Given the description of an element on the screen output the (x, y) to click on. 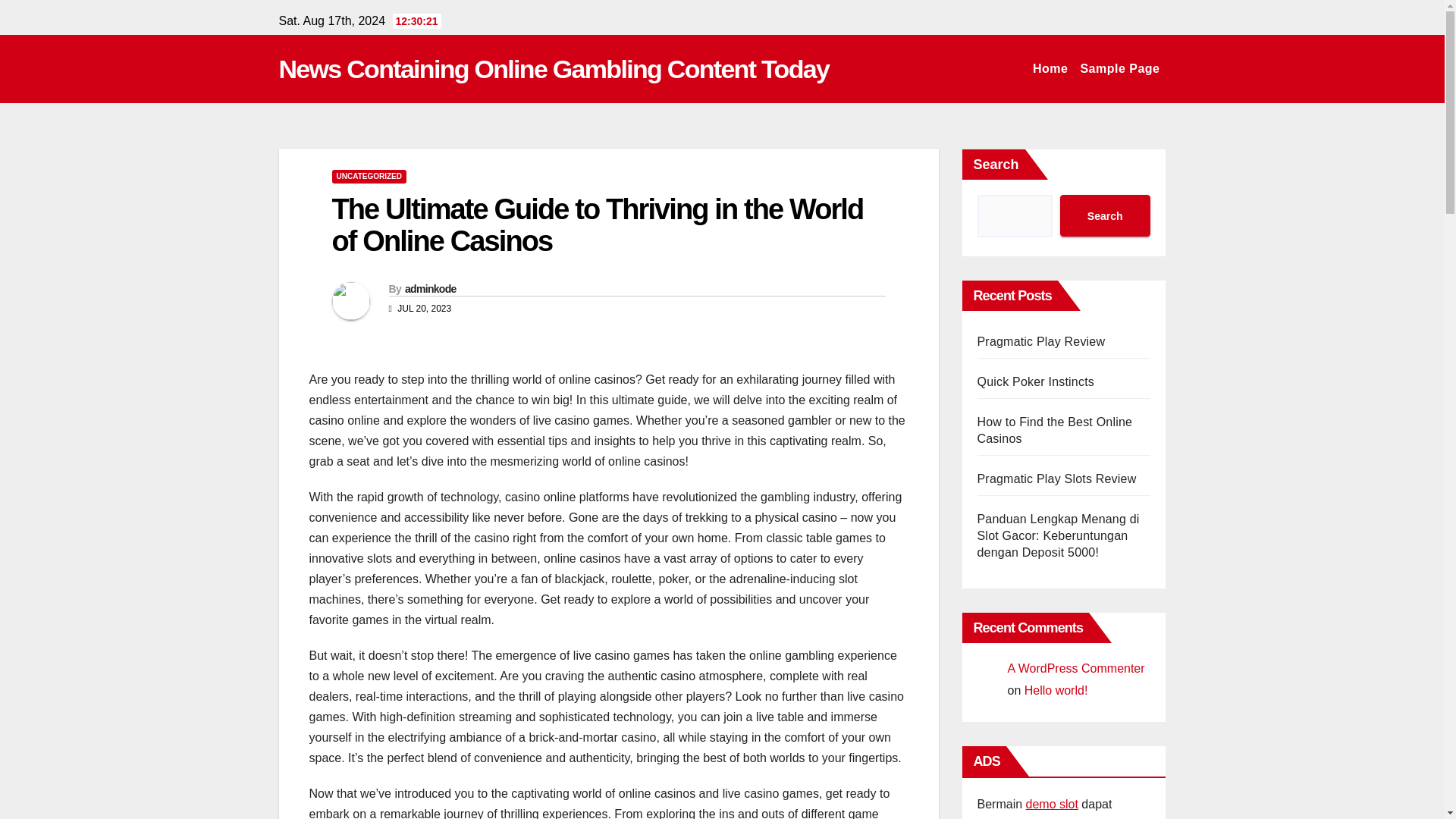
A WordPress Commenter (1075, 667)
Hello world! (1056, 689)
Pragmatic Play Slots Review (1055, 478)
Sample Page (1120, 69)
Quick Poker Instincts (1034, 381)
Pragmatic Play Review (1040, 341)
How to Find the Best Online Casinos (1054, 430)
UNCATEGORIZED (368, 176)
